Given the description of an element on the screen output the (x, y) to click on. 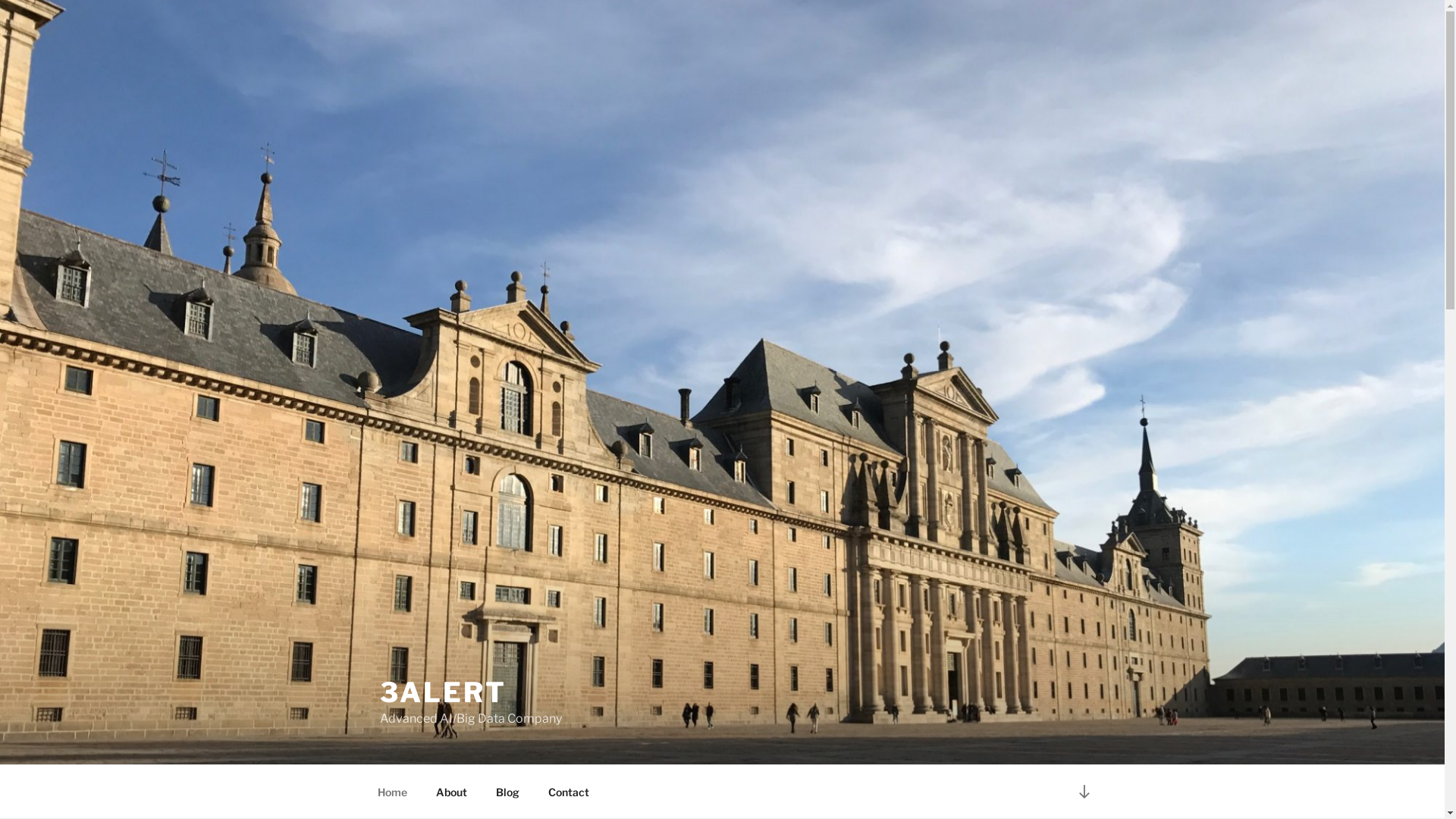
Home Element type: text (392, 791)
Contact Element type: text (568, 791)
Skip to content Element type: text (0, 0)
About Element type: text (451, 791)
Blog Element type: text (507, 791)
3ALERT Element type: text (442, 692)
Scroll down to content Element type: text (1083, 790)
